Given the description of an element on the screen output the (x, y) to click on. 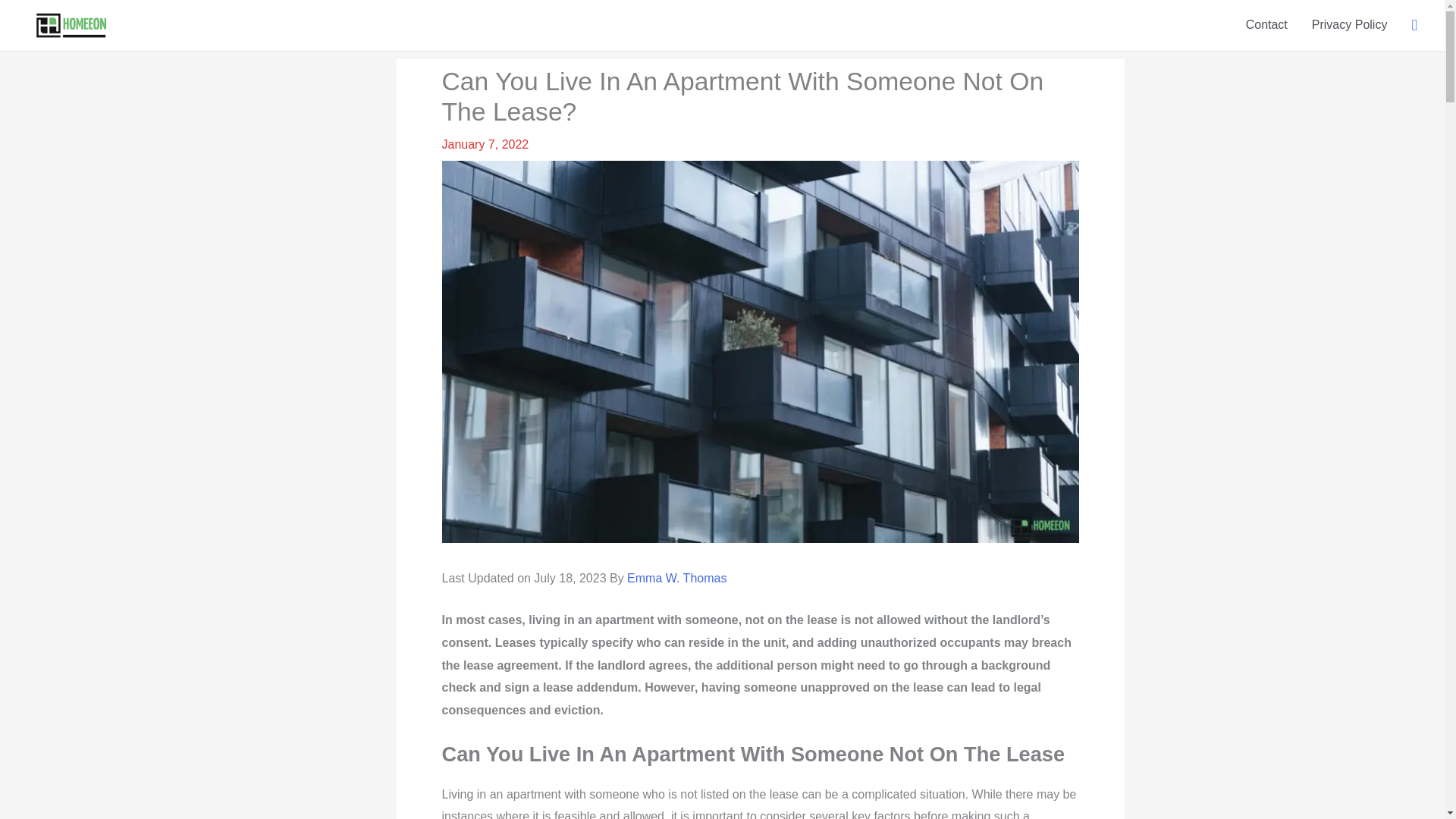
Privacy Policy (1349, 24)
Contact (1266, 24)
Emma W. Thomas (676, 577)
